Given the description of an element on the screen output the (x, y) to click on. 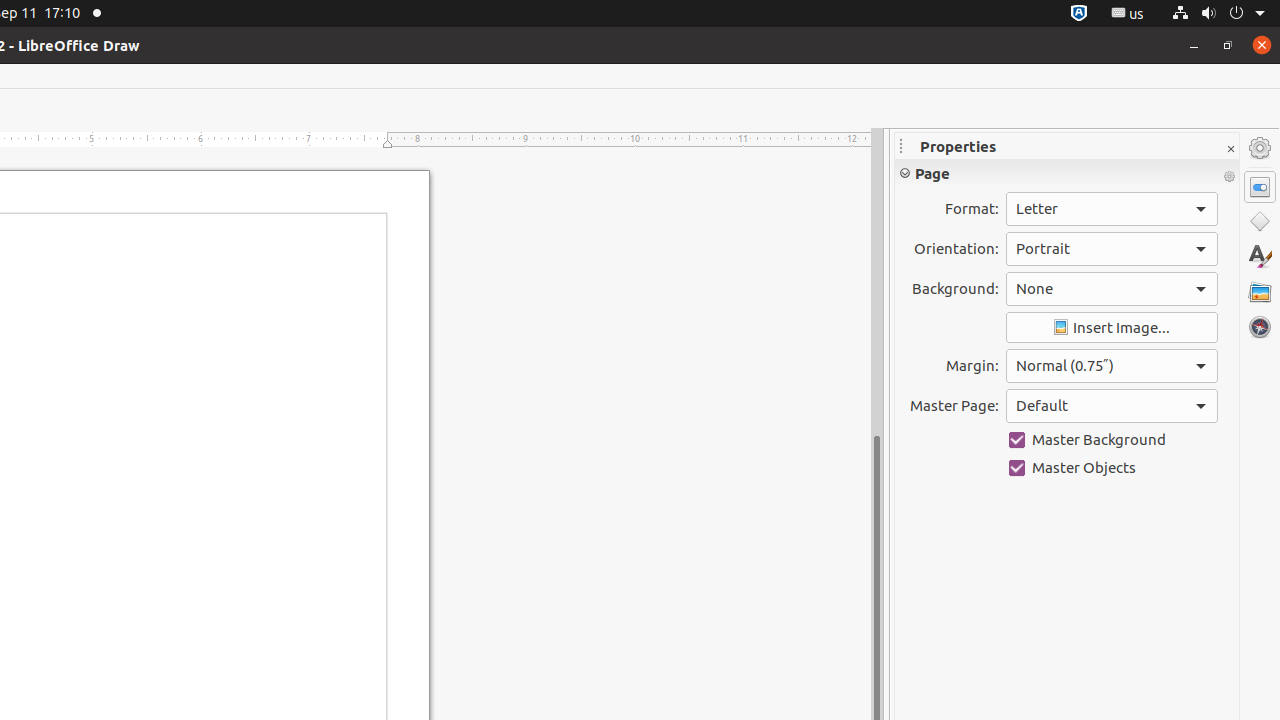
Shapes Element type: radio-button (1260, 222)
Close Sidebar Deck Element type: push-button (1230, 149)
